Given the description of an element on the screen output the (x, y) to click on. 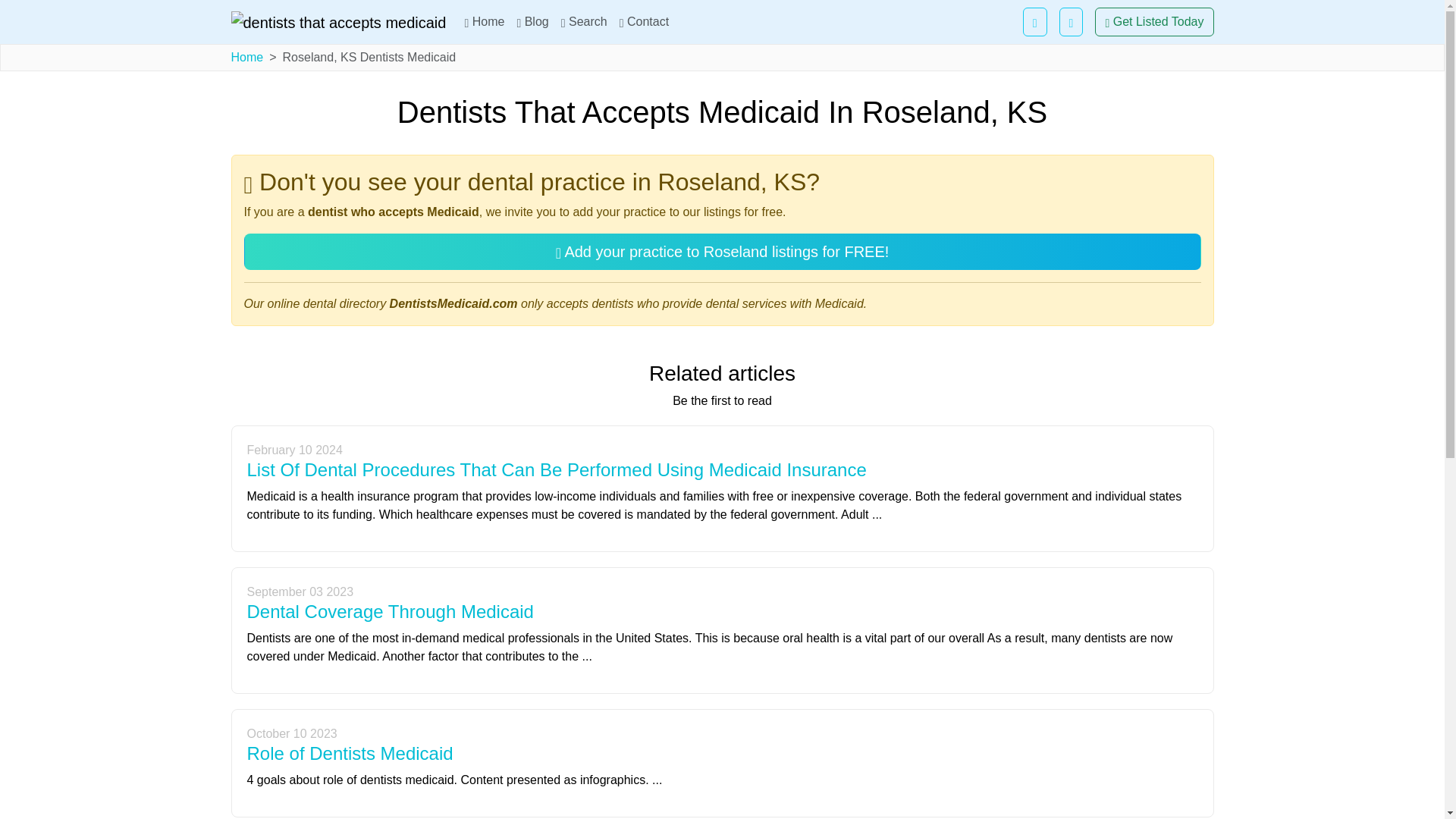
Home (246, 56)
Blog (532, 21)
Search (583, 21)
Contact (643, 21)
Home (484, 21)
Role of Dentists Medicaid (349, 752)
Dental Coverage Through Medicaid (390, 611)
Add your practice to Roseland listings for FREE! (722, 251)
Get Listed Today (1153, 21)
